Given the description of an element on the screen output the (x, y) to click on. 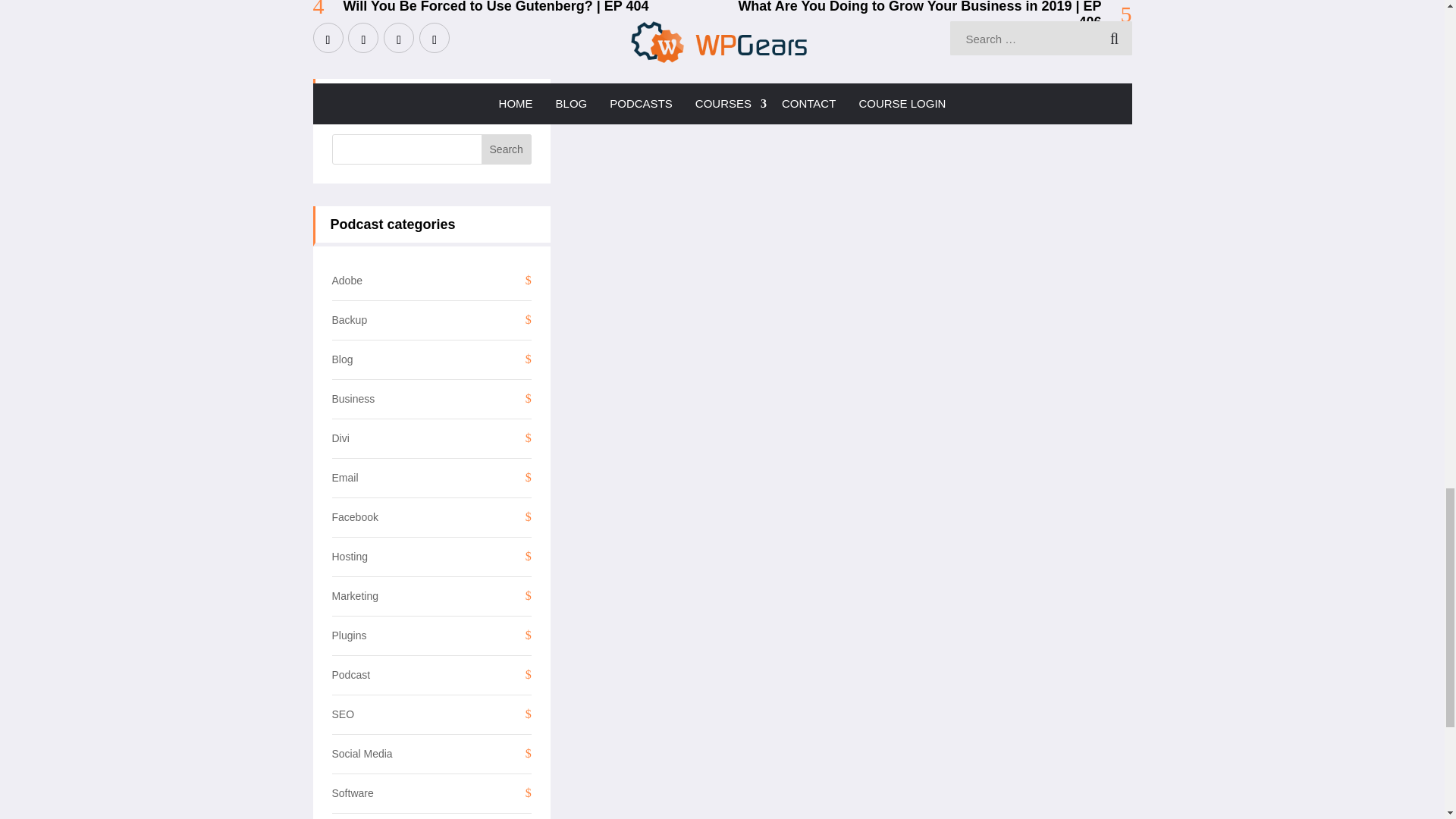
Search (506, 149)
Business (353, 398)
Marketing (354, 595)
Backup (349, 319)
Blog (342, 358)
Divi (340, 438)
Hosting (349, 556)
Email (344, 477)
Search (506, 149)
Facebook (354, 517)
